Given the description of an element on the screen output the (x, y) to click on. 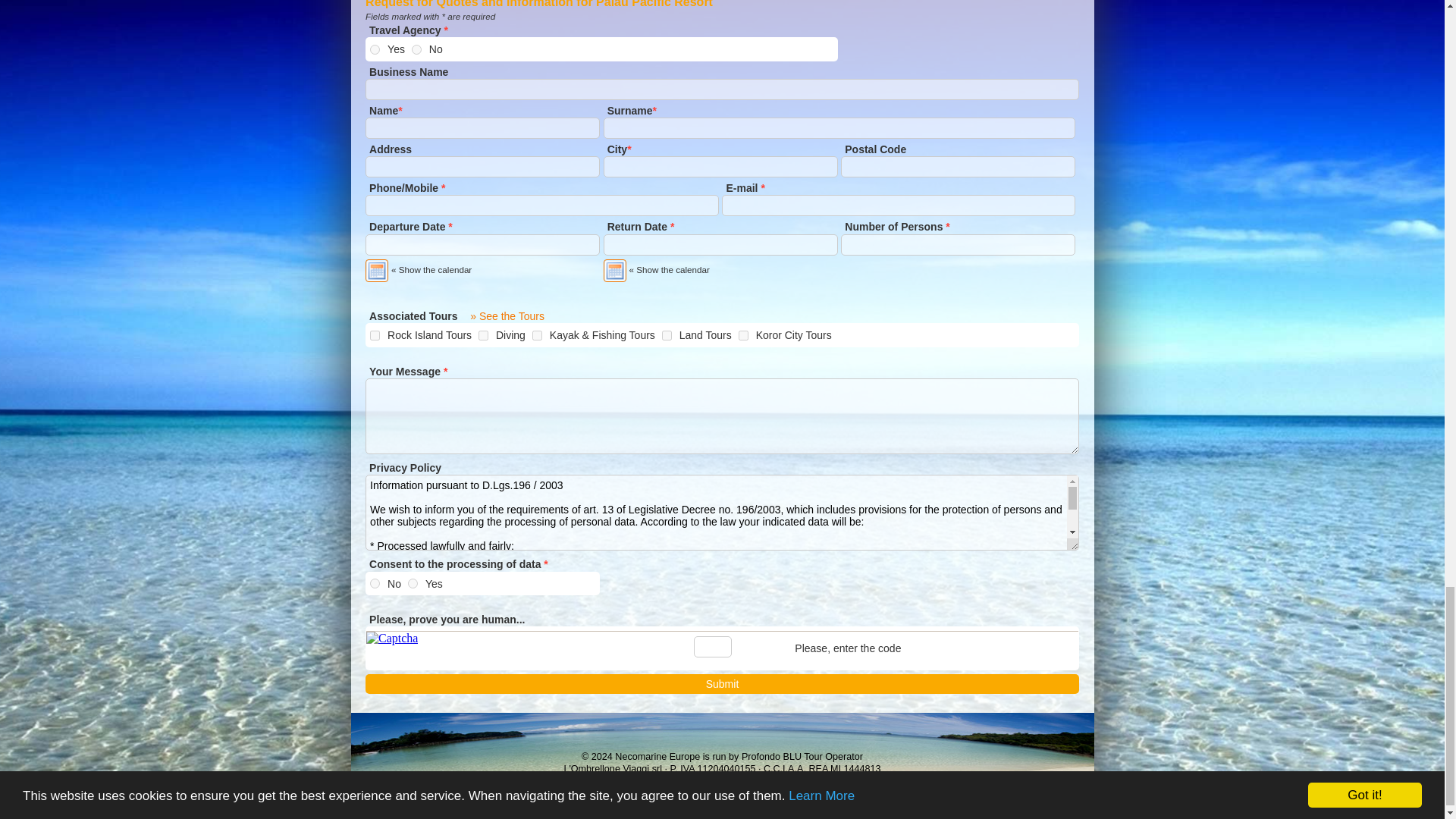
Kayak and Fishing Tours (536, 335)
Land Tours (666, 335)
No (417, 49)
Si (374, 49)
Le Immersioni (483, 335)
Rock Island Tours (374, 335)
Koror City Tours (743, 335)
